Given the description of an element on the screen output the (x, y) to click on. 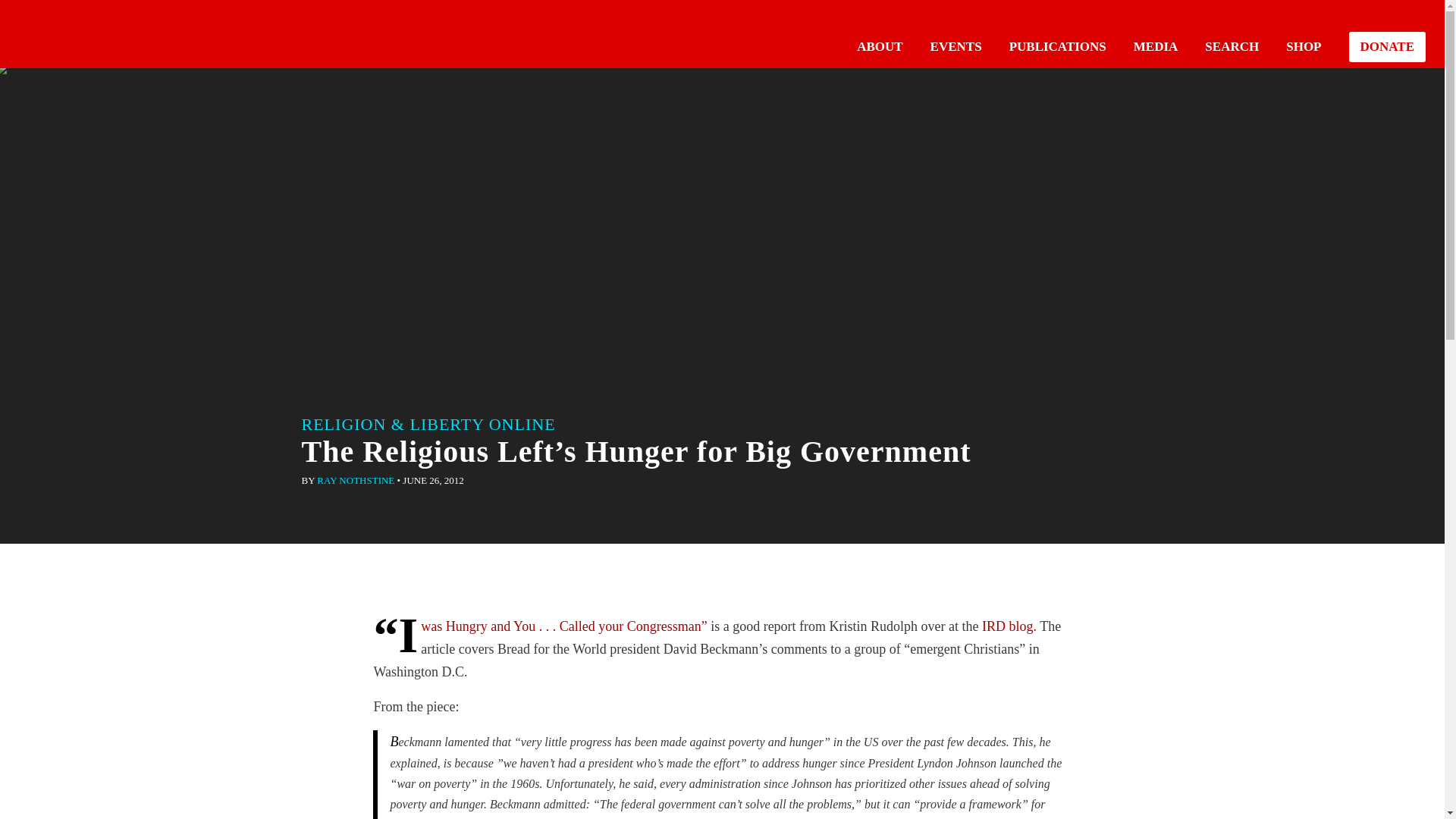
SEARCH (1232, 46)
SHOP (1302, 46)
Posts by Ray Nothstine (355, 480)
RAY NOTHSTINE (355, 480)
PUBLICATIONS (1057, 46)
IRD blog. (1008, 626)
MEDIA (1155, 46)
The Acton Institute (60, 31)
EVENTS (955, 46)
DONATE (1387, 46)
